Given the description of an element on the screen output the (x, y) to click on. 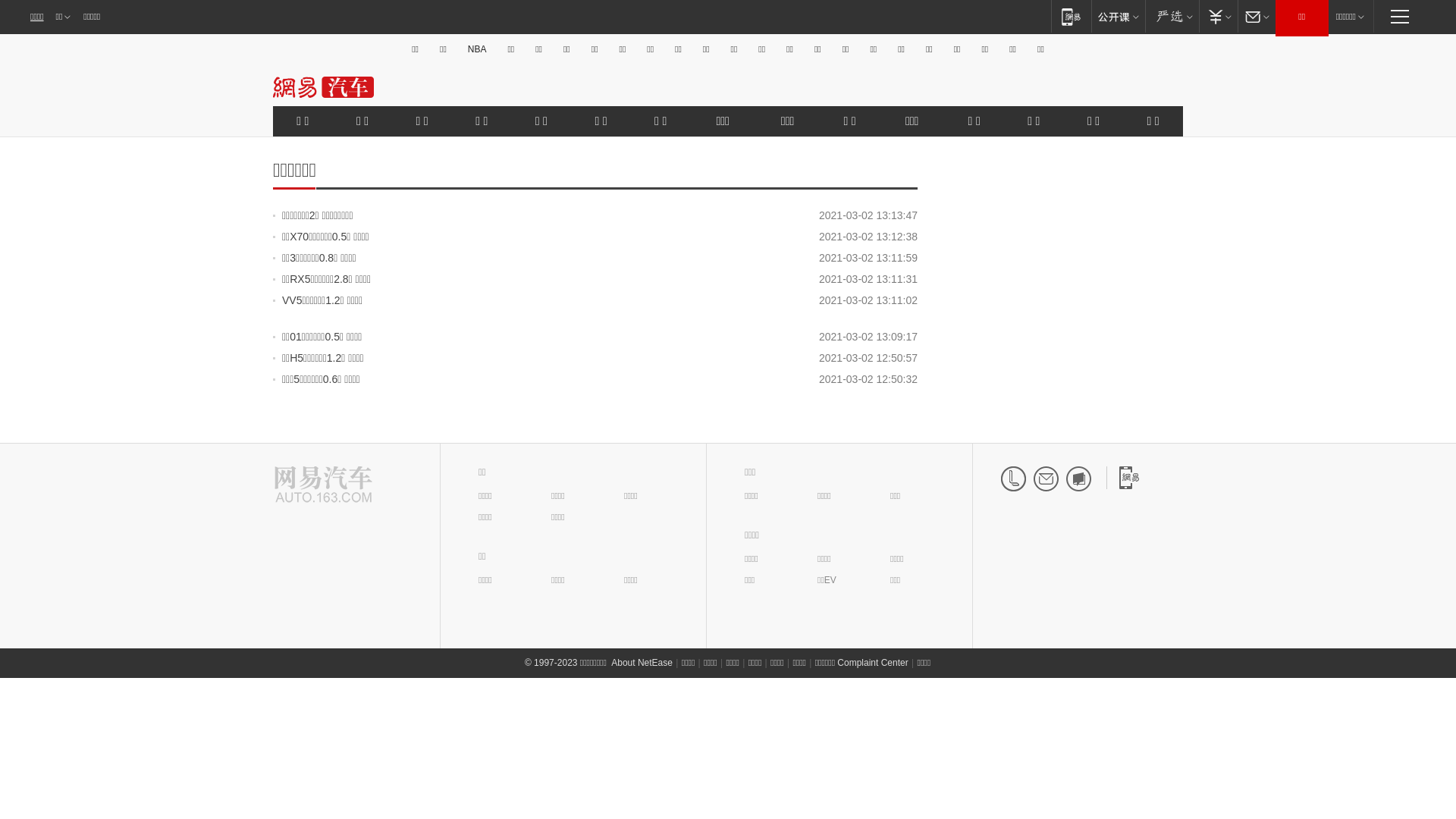
NBA Element type: text (477, 48)
About NetEase Element type: text (641, 662)
